Given the description of an element on the screen output the (x, y) to click on. 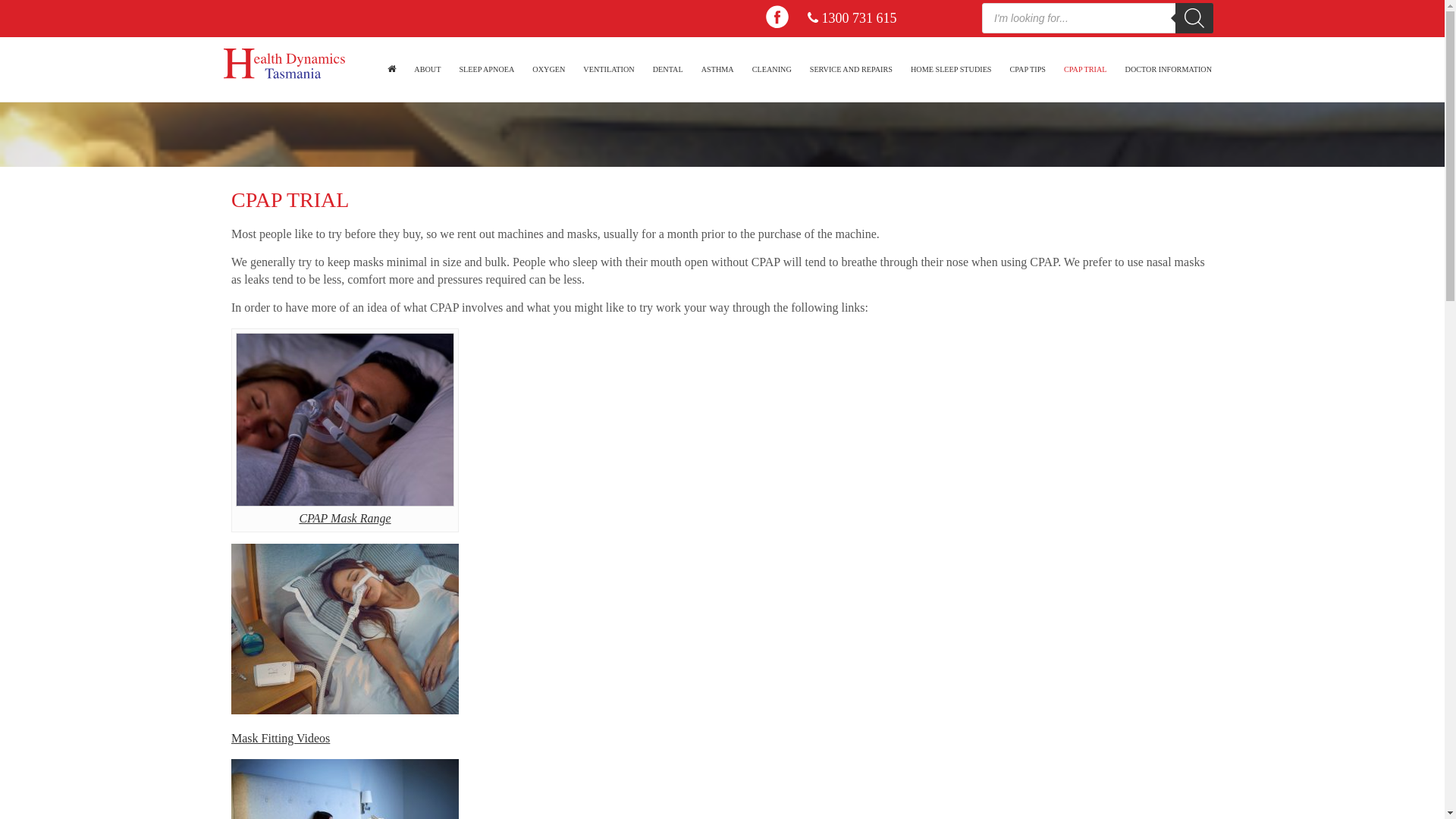
HEALTH DYNAMICS TASMANIA Element type: text (393, 69)
CPAP TIPS Element type: text (1027, 69)
ASTHMA Element type: text (717, 69)
HOME SLEEP STUDIES Element type: text (951, 69)
SERVICE AND REPAIRS Element type: text (850, 69)
CLEANING Element type: text (771, 69)
OXYGEN Element type: text (548, 69)
CPAP Mask Range Element type: text (344, 517)
VENTILATION Element type: text (608, 69)
ABOUT Element type: text (426, 69)
Mask Fitting Videos Element type: text (280, 737)
CPAP TRIAL Element type: text (1085, 69)
DENTAL Element type: text (667, 69)
SLEEP APNOEA Element type: text (486, 69)
Facebook Element type: hover (776, 16)
DOCTOR INFORMATION Element type: text (1168, 69)
